Given the description of an element on the screen output the (x, y) to click on. 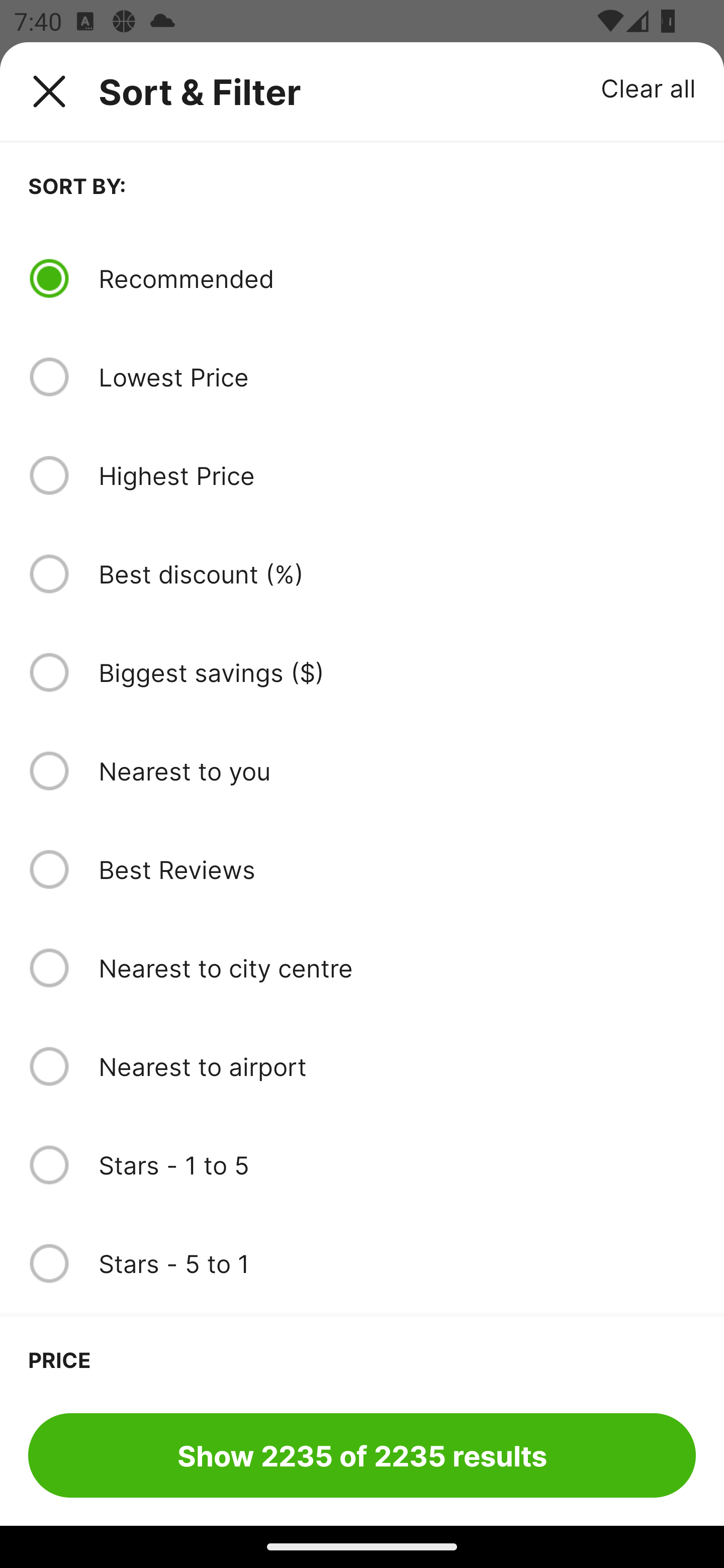
Clear all (648, 87)
Recommended  (396, 278)
Lowest Price (396, 377)
Highest Price (396, 474)
Best discount (%) (396, 573)
Biggest savings ($) (396, 672)
Nearest to you (396, 770)
Best Reviews (396, 869)
Nearest to city centre (396, 968)
Nearest to airport (396, 1065)
Stars - 1 to 5 (396, 1164)
Stars - 5 to 1 (396, 1263)
Show 2235 of 2235 results (361, 1454)
